Given the description of an element on the screen output the (x, y) to click on. 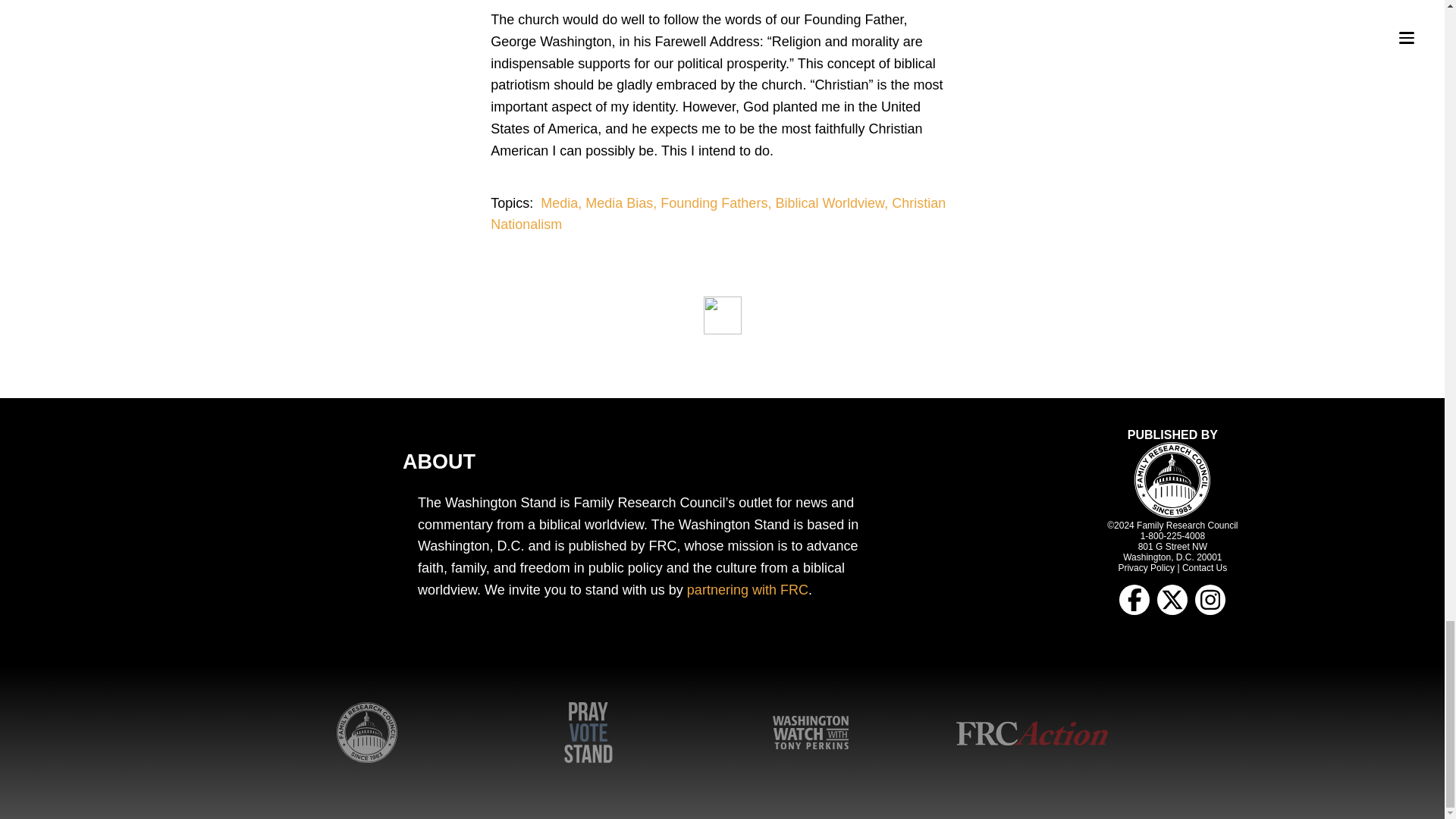
Contact Us (1204, 567)
Founding Fathers, (717, 202)
Media Bias, (623, 202)
Media, (562, 202)
partnering with FRC (747, 589)
Biblical Worldview, (832, 202)
Christian Nationalism (717, 213)
Privacy Policy (1146, 567)
